Given the description of an element on the screen output the (x, y) to click on. 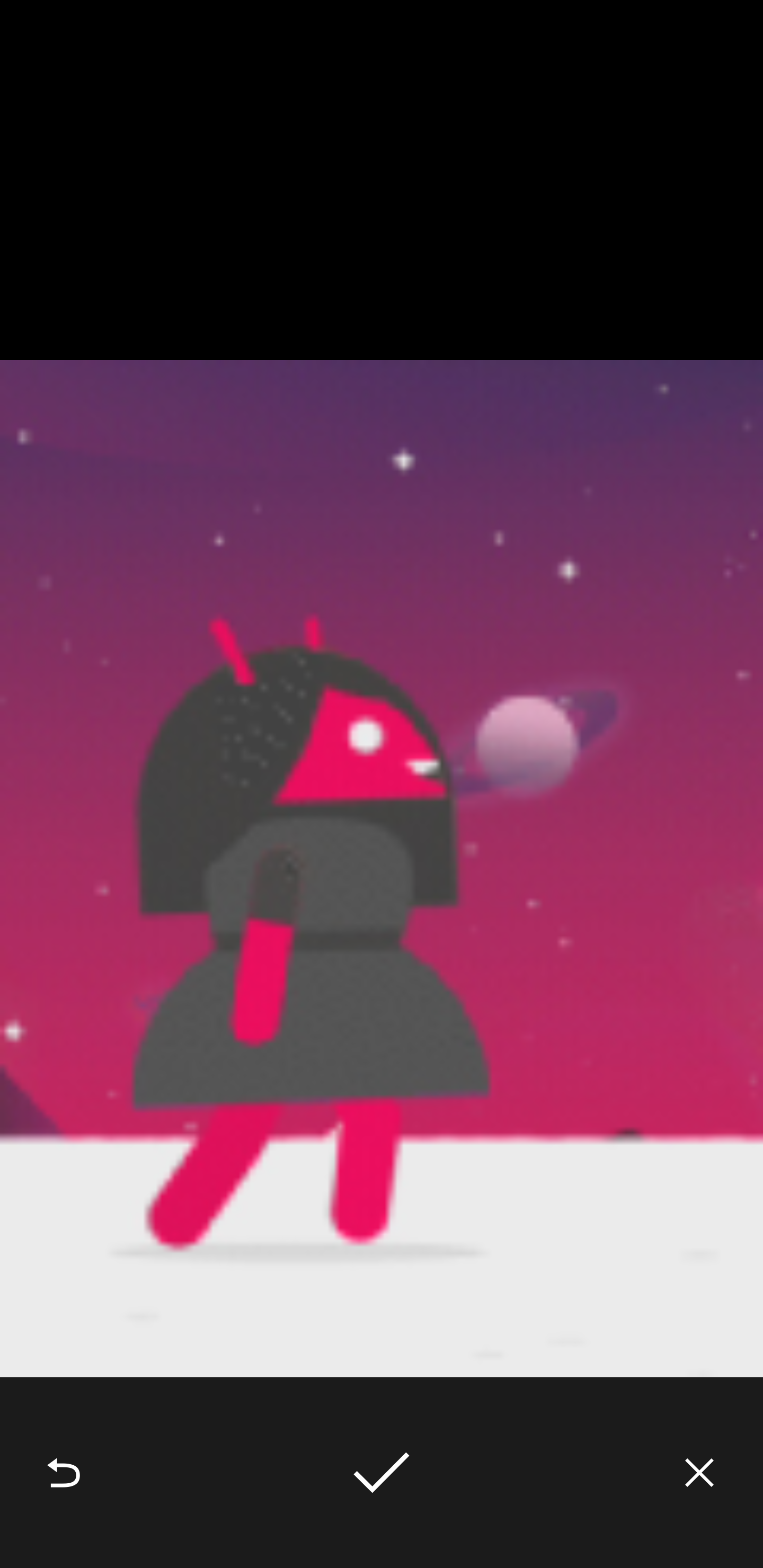
Done (381, 1472)
Retake (63, 1472)
Cancel (699, 1472)
